Given the description of an element on the screen output the (x, y) to click on. 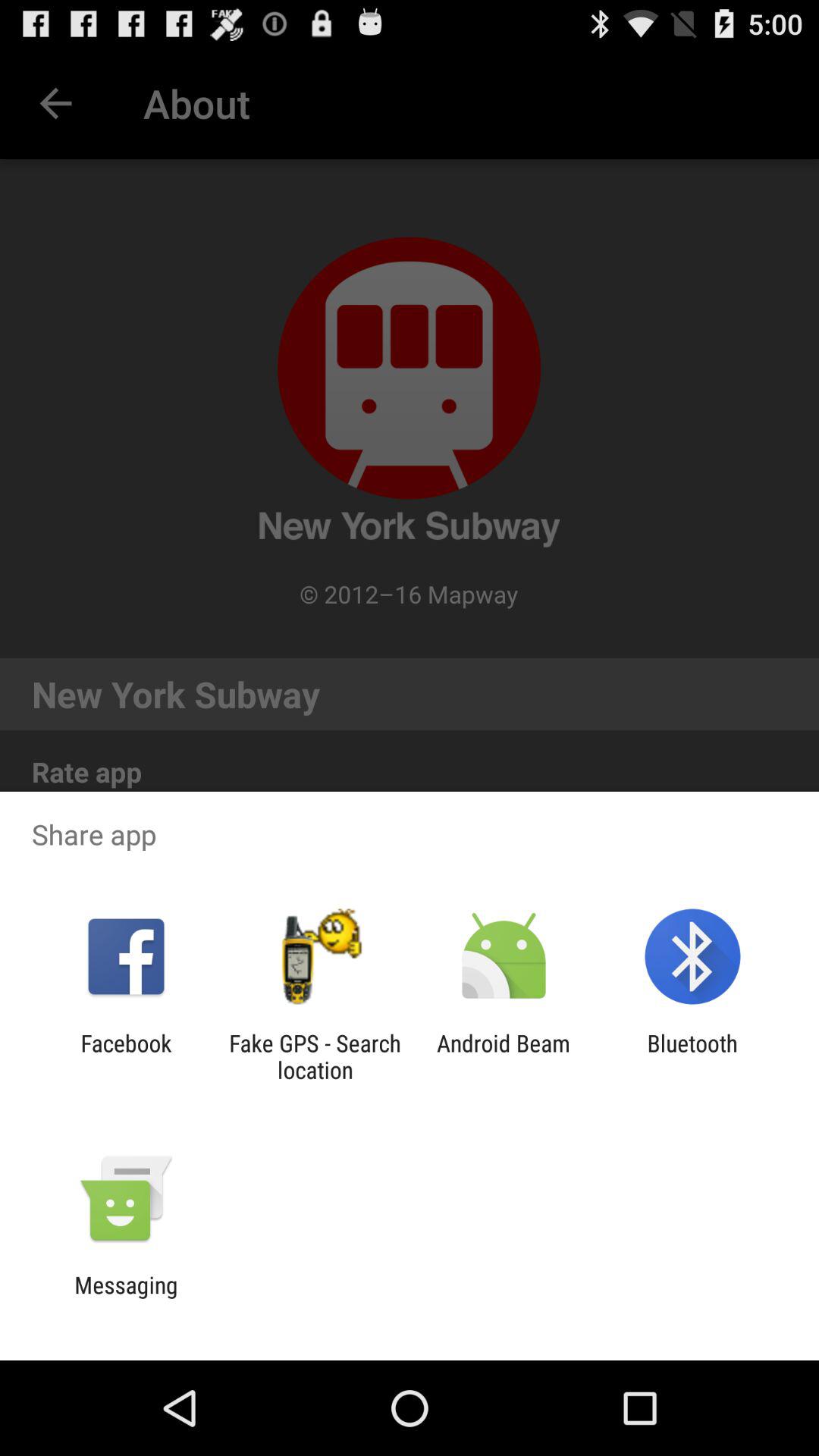
select the app to the left of bluetooth app (503, 1056)
